Given the description of an element on the screen output the (x, y) to click on. 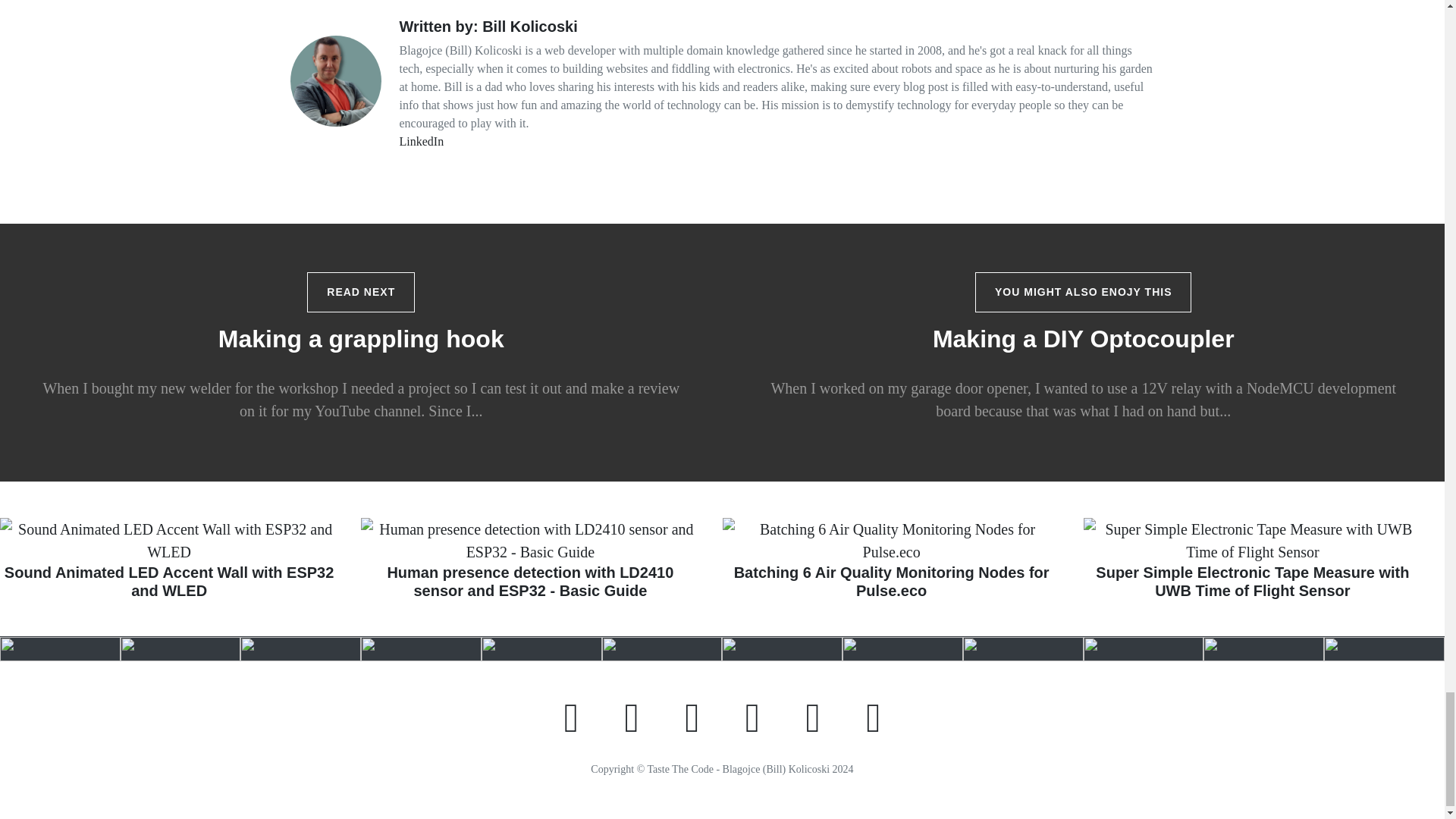
Sound Animated LED Accent Wall with ESP32 and WLED (168, 563)
READ NEXT (360, 291)
Instructables (872, 716)
Twitter (632, 716)
Facebook (691, 716)
GitHub (812, 716)
Making a grappling hook (360, 338)
Making a DIY Optocoupler (1083, 338)
